Given the description of an element on the screen output the (x, y) to click on. 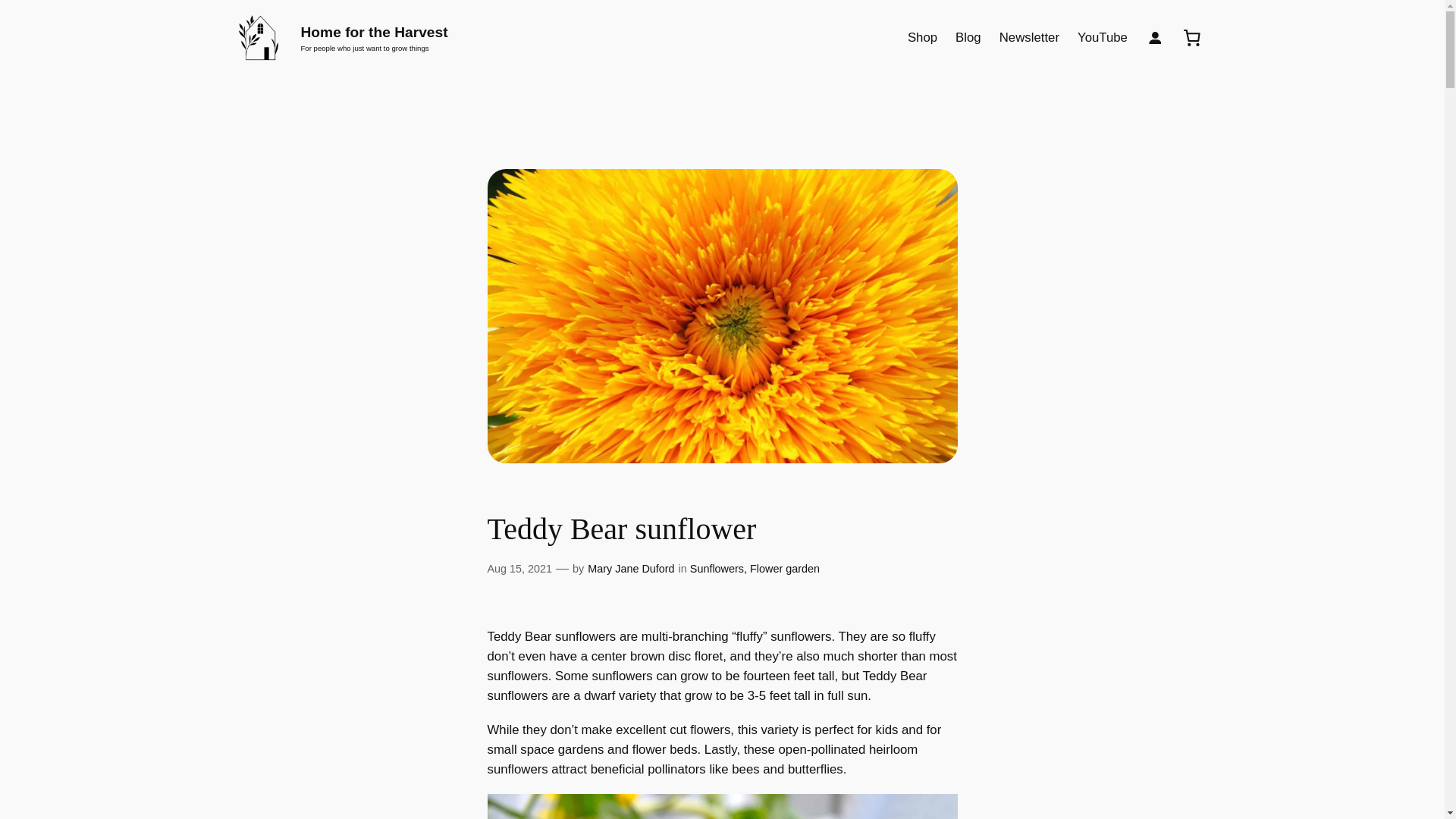
YouTube (1101, 37)
Home for the Harvest (372, 32)
Flower garden (784, 568)
Aug 15, 2021 (518, 568)
Blog (968, 37)
Shop (922, 37)
Newsletter (1028, 37)
Mary Jane Duford (631, 568)
Sunflowers (717, 568)
